Given the description of an element on the screen output the (x, y) to click on. 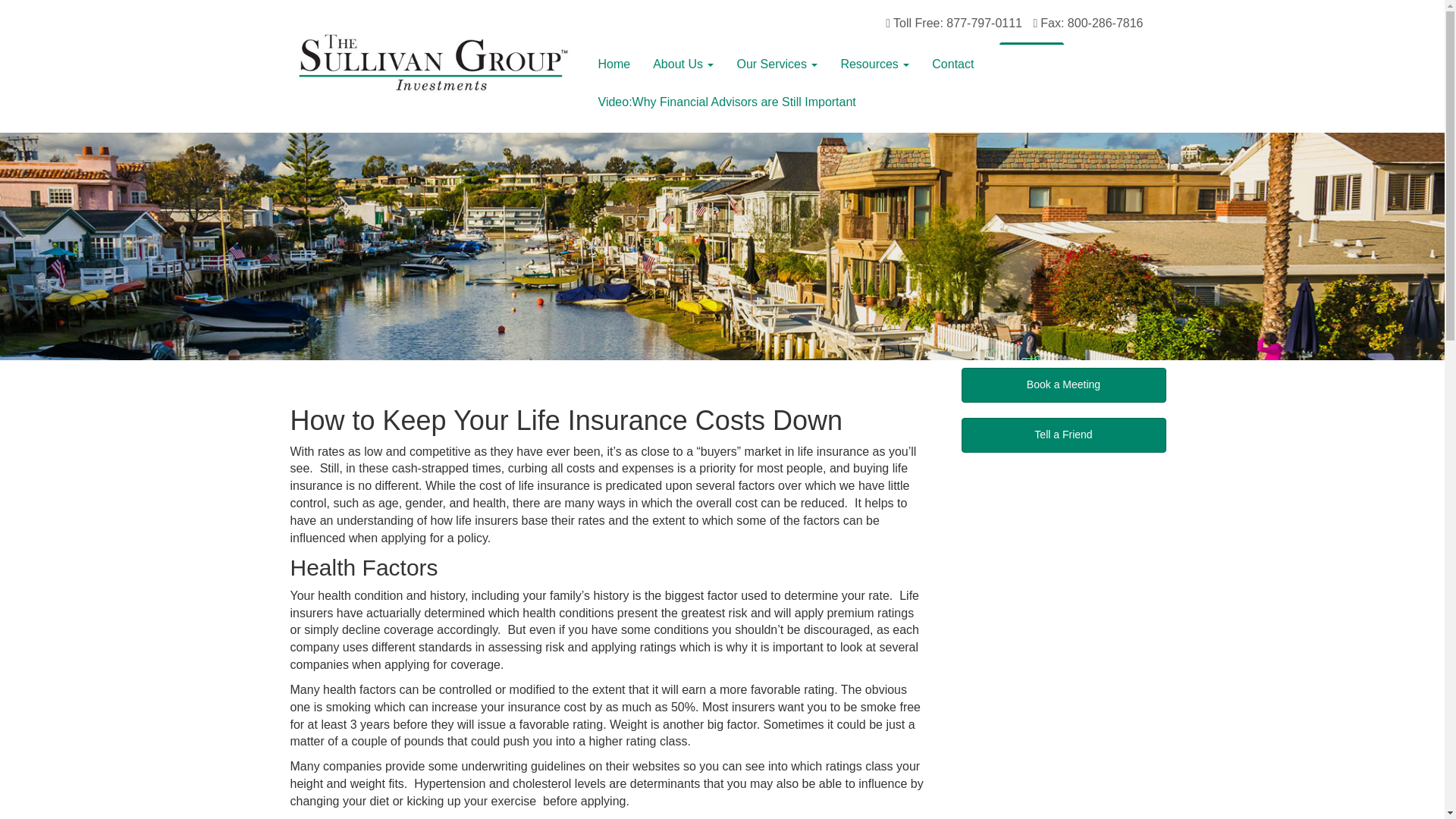
Resources (869, 64)
Resources (869, 64)
 Fax: 800-286-7816 (1087, 22)
Home (613, 64)
 Toll Free: 877-797-0111 (953, 22)
Skip to main content (55, 8)
Home (613, 64)
Contact Us (952, 64)
Tell a Friend (1063, 434)
Contact (952, 64)
Book a Meeting (1063, 384)
Video:Why Financial Advisors are Still Important (726, 102)
About Us (677, 64)
Our Services (776, 64)
Client Login (1031, 53)
